Given the description of an element on the screen output the (x, y) to click on. 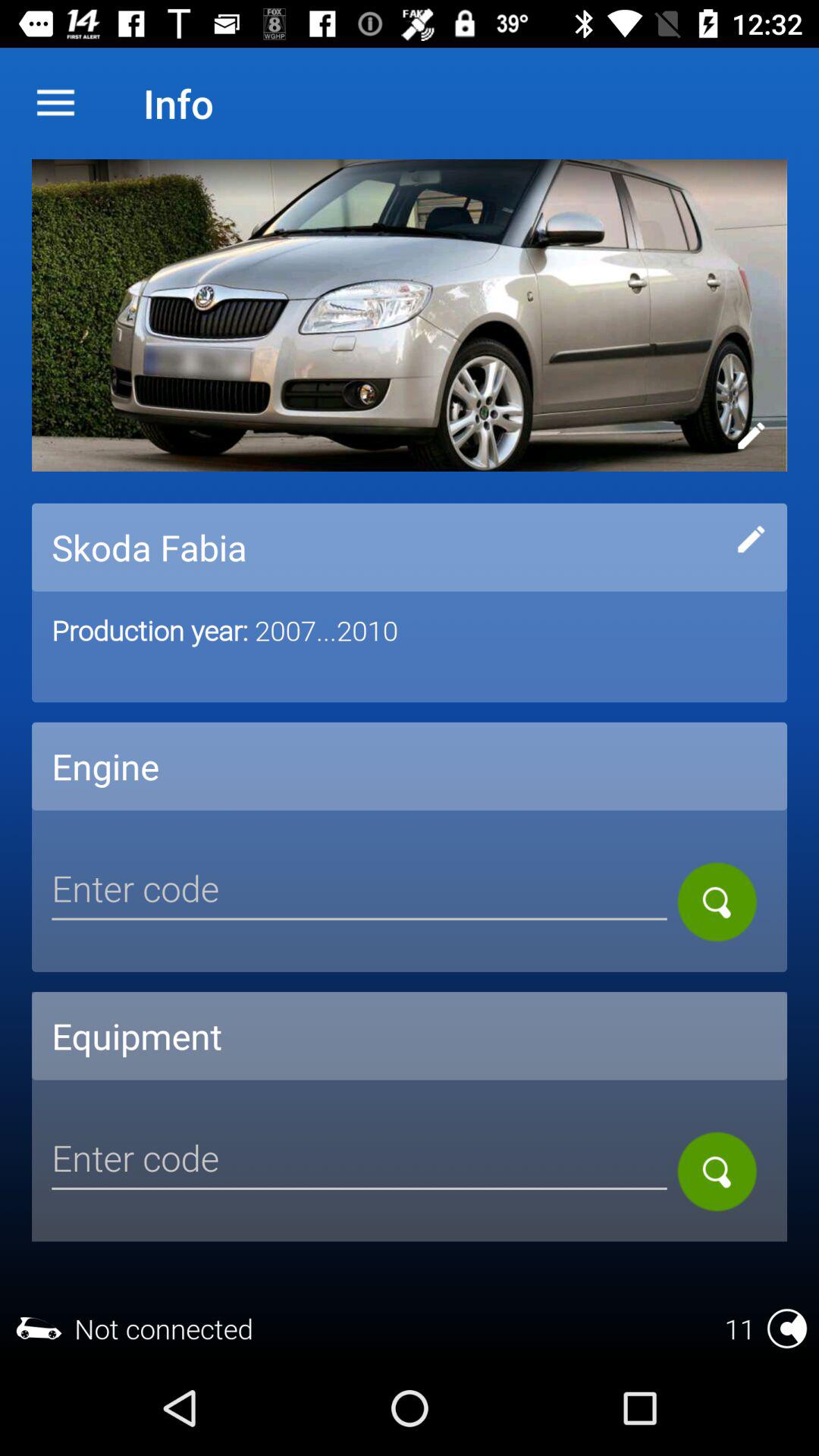
edit car (751, 539)
